Given the description of an element on the screen output the (x, y) to click on. 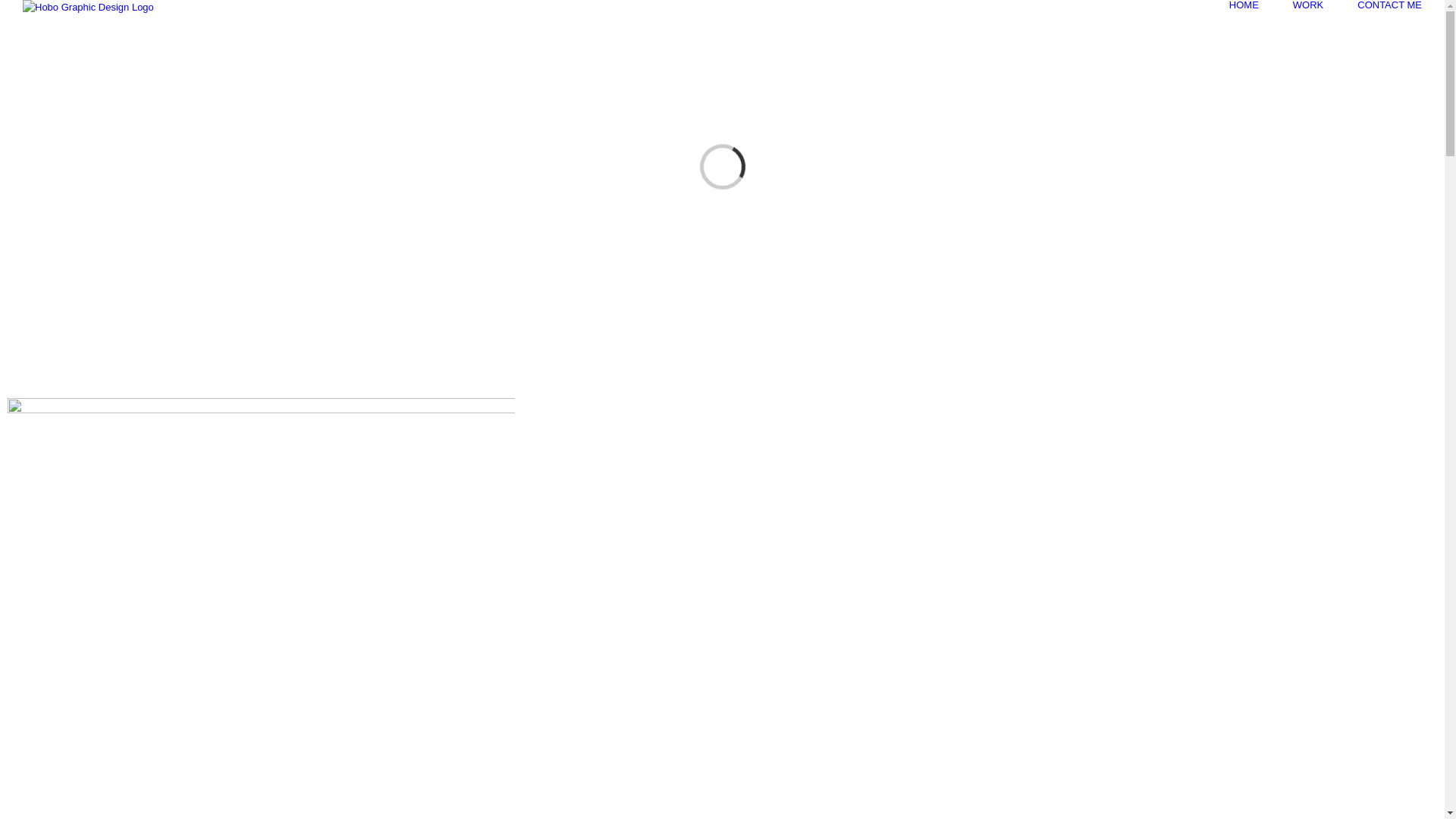
CONTACT ME Element type: text (1389, 4)
WORK Element type: text (1307, 4)
HOME Element type: text (1243, 4)
